Given the description of an element on the screen output the (x, y) to click on. 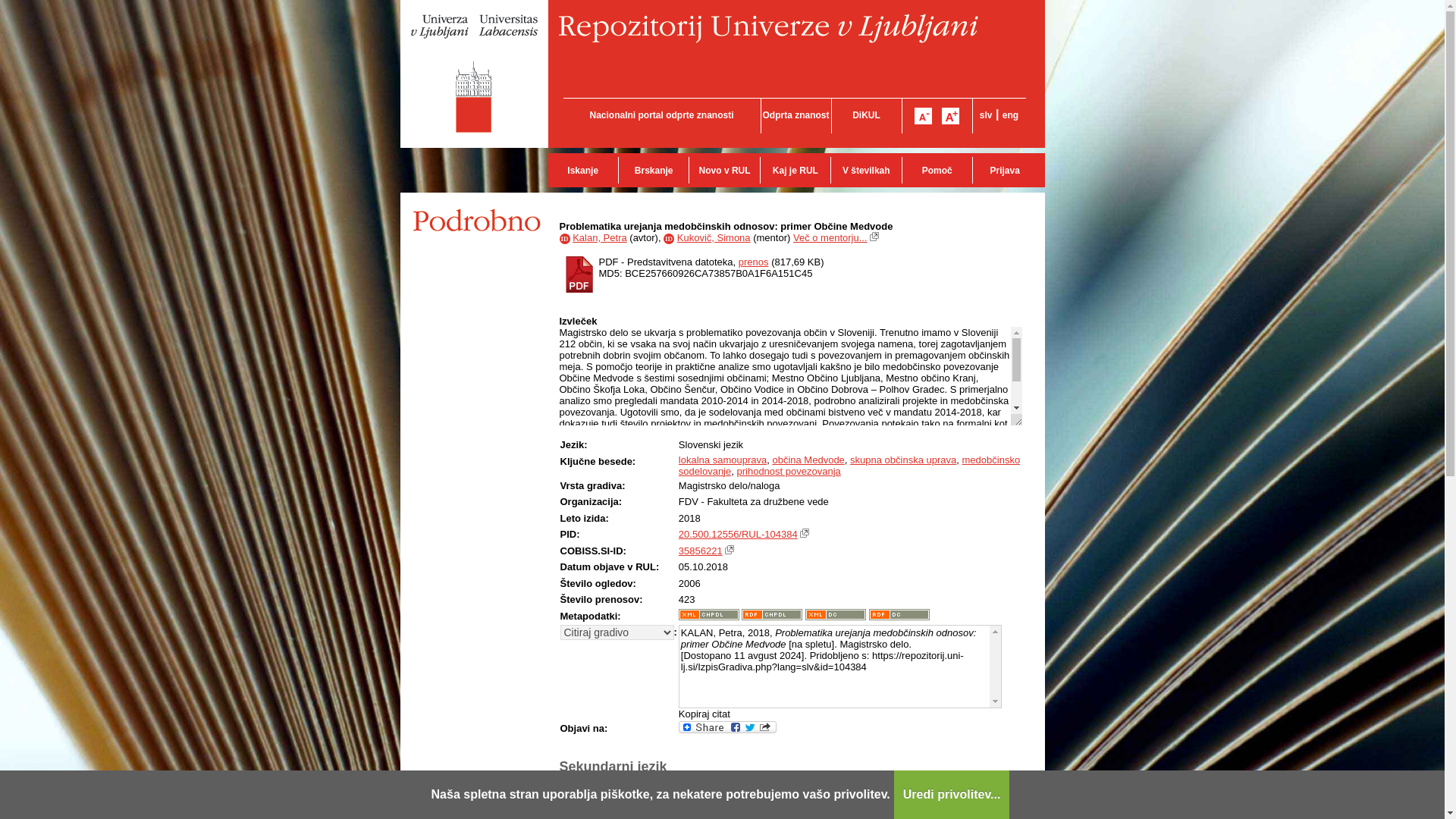
Brskanje (652, 170)
Izvoz v DC-XML (835, 614)
Prijava (1004, 170)
Univerza v Ljubljani (474, 74)
ID (668, 237)
Izvoz v RDF-CHPDL (771, 614)
Kopiraj citat (704, 713)
eng (1010, 114)
Slovensko (985, 114)
Uredi privolitev... (951, 794)
